Given the description of an element on the screen output the (x, y) to click on. 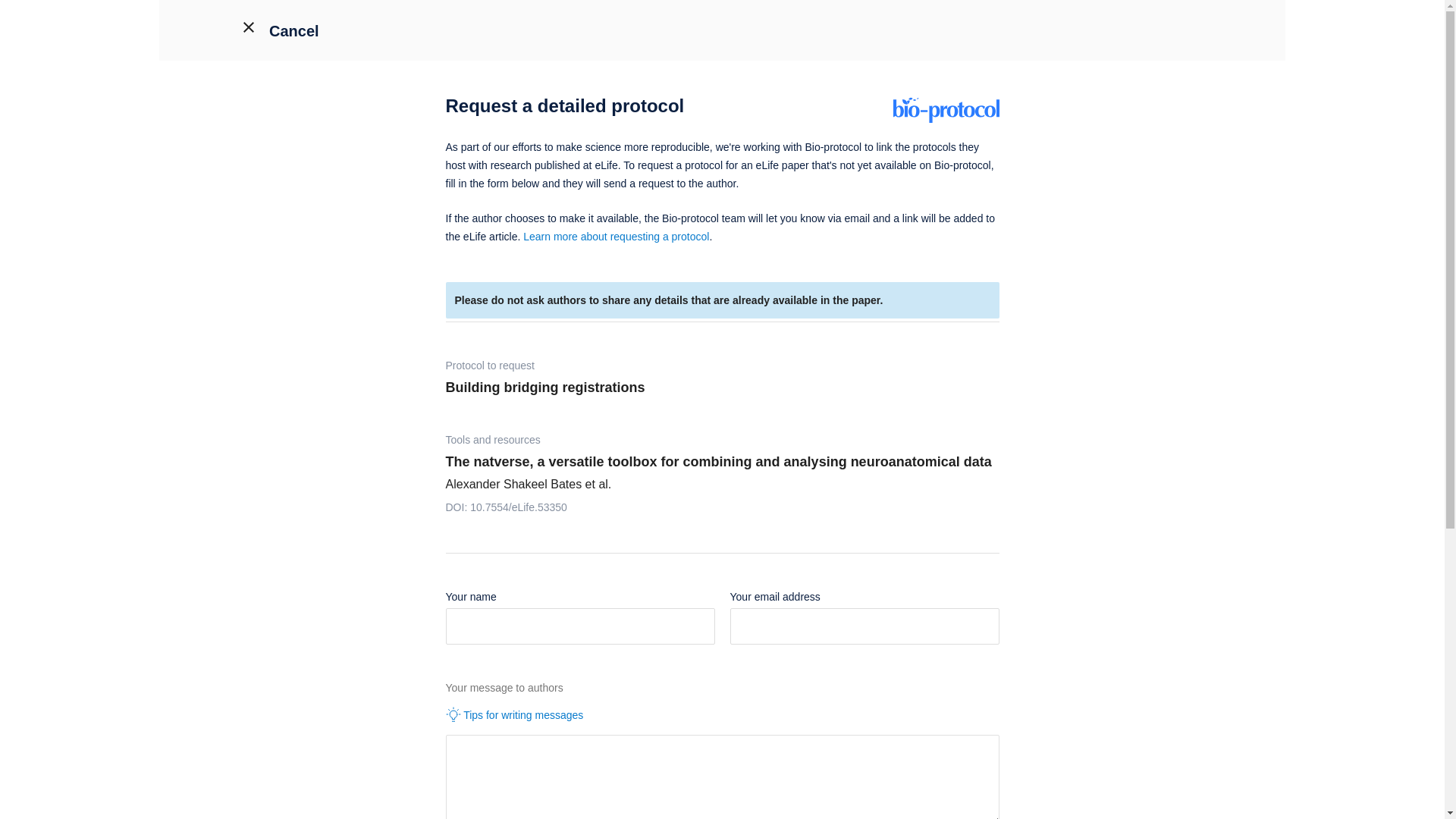
Learn more about requesting a protocol (615, 236)
SEND REQUEST (66, 18)
Please enter your name (579, 626)
Message to authors (721, 776)
Please enter your email address (863, 626)
 Tips for writing messages (721, 714)
Cancel (248, 28)
